Given the description of an element on the screen output the (x, y) to click on. 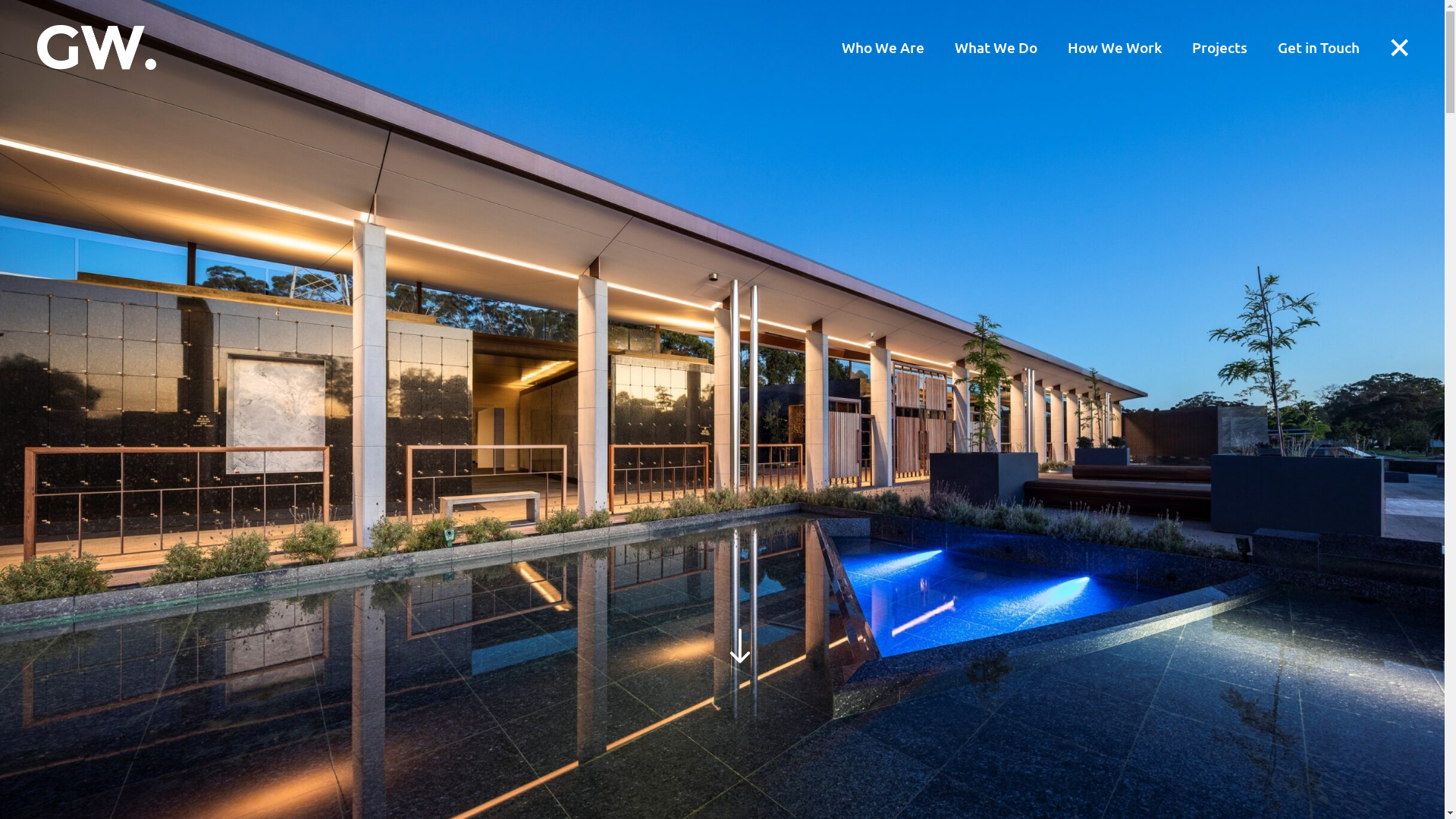
Get in Touch Element type: text (1318, 47)
What We Do Element type: text (995, 47)
Who We Are Element type: text (882, 47)
How We Work Element type: text (1114, 47)
Projects Element type: text (1219, 47)
